Given the description of an element on the screen output the (x, y) to click on. 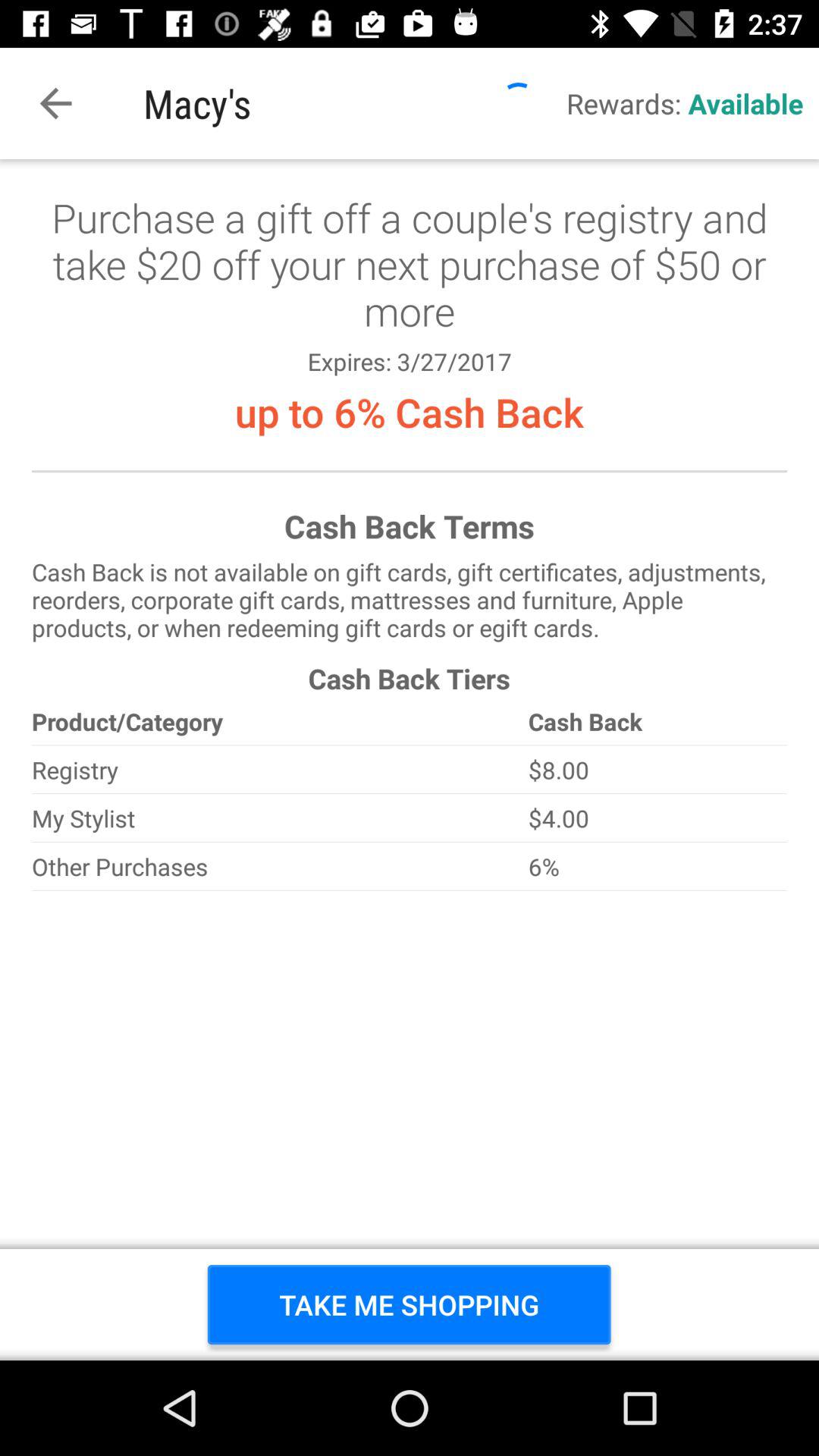
go to next (409, 759)
